Given the description of an element on the screen output the (x, y) to click on. 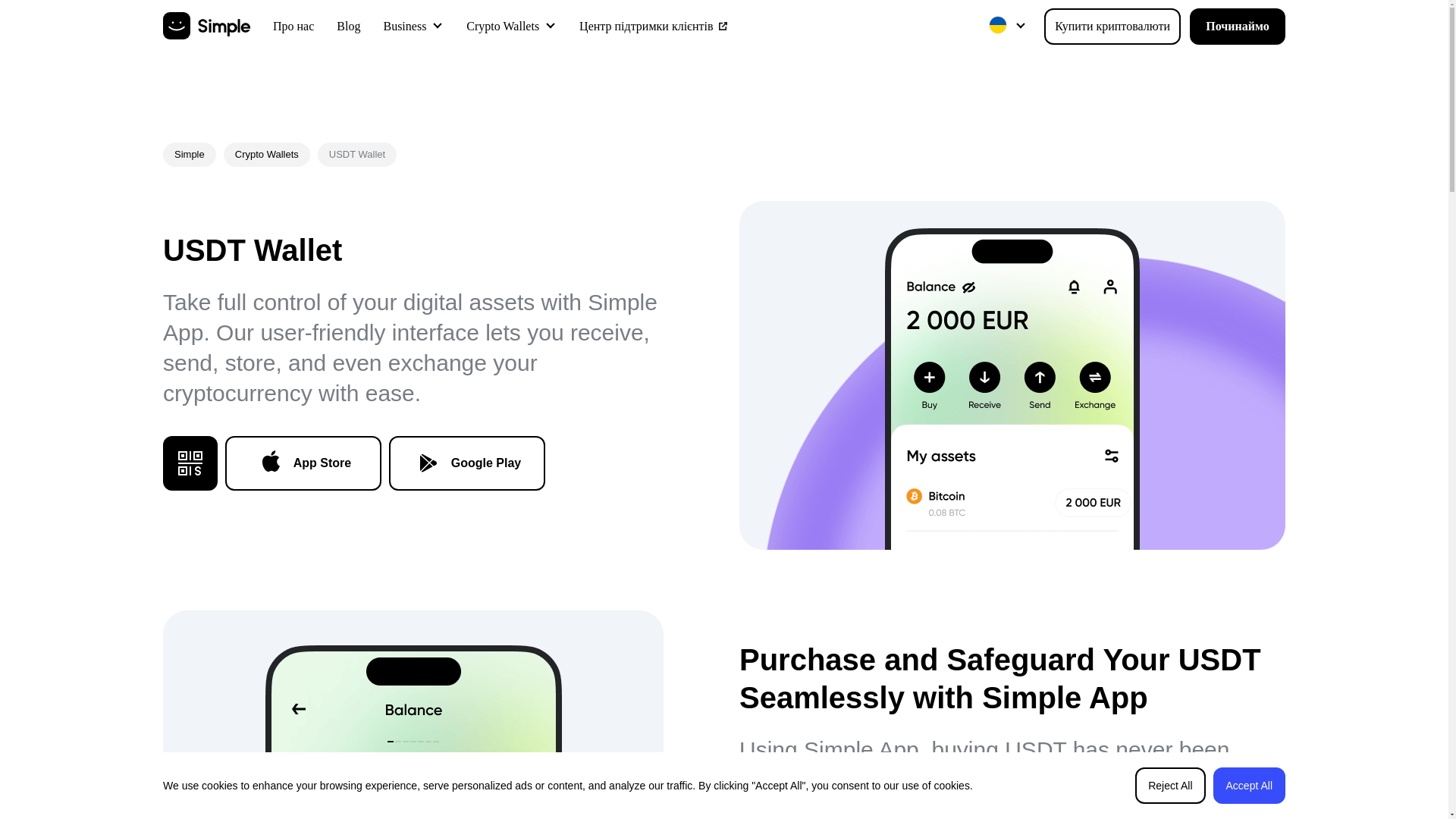
Reject All (1170, 785)
Google Play (466, 462)
Simple (189, 154)
Crypto Wallets (501, 26)
App Store (303, 462)
Accept All (1248, 785)
Blog (347, 26)
Crypto Wallets (266, 154)
